Given the description of an element on the screen output the (x, y) to click on. 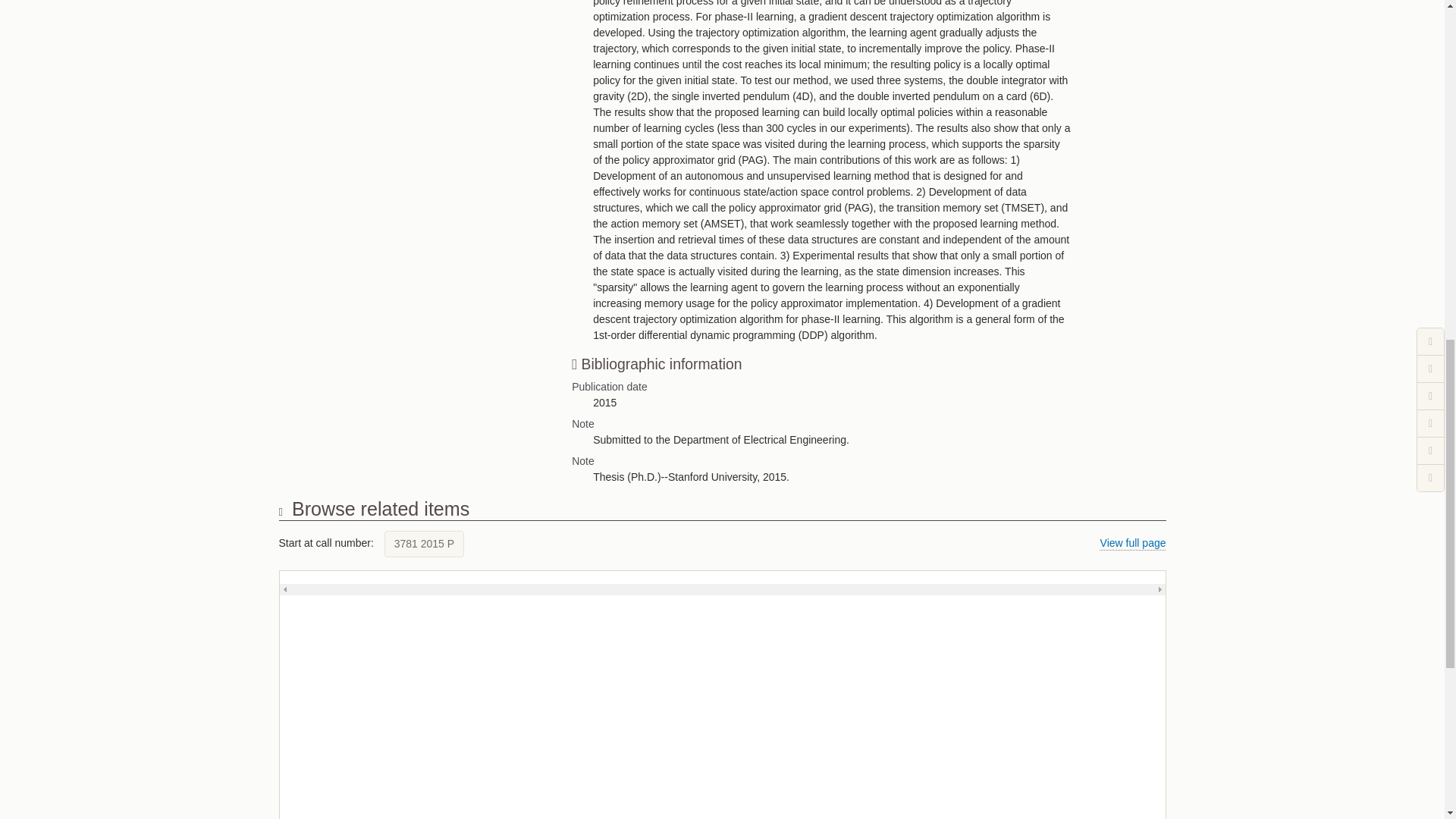
Publication date (853, 386)
